Given the description of an element on the screen output the (x, y) to click on. 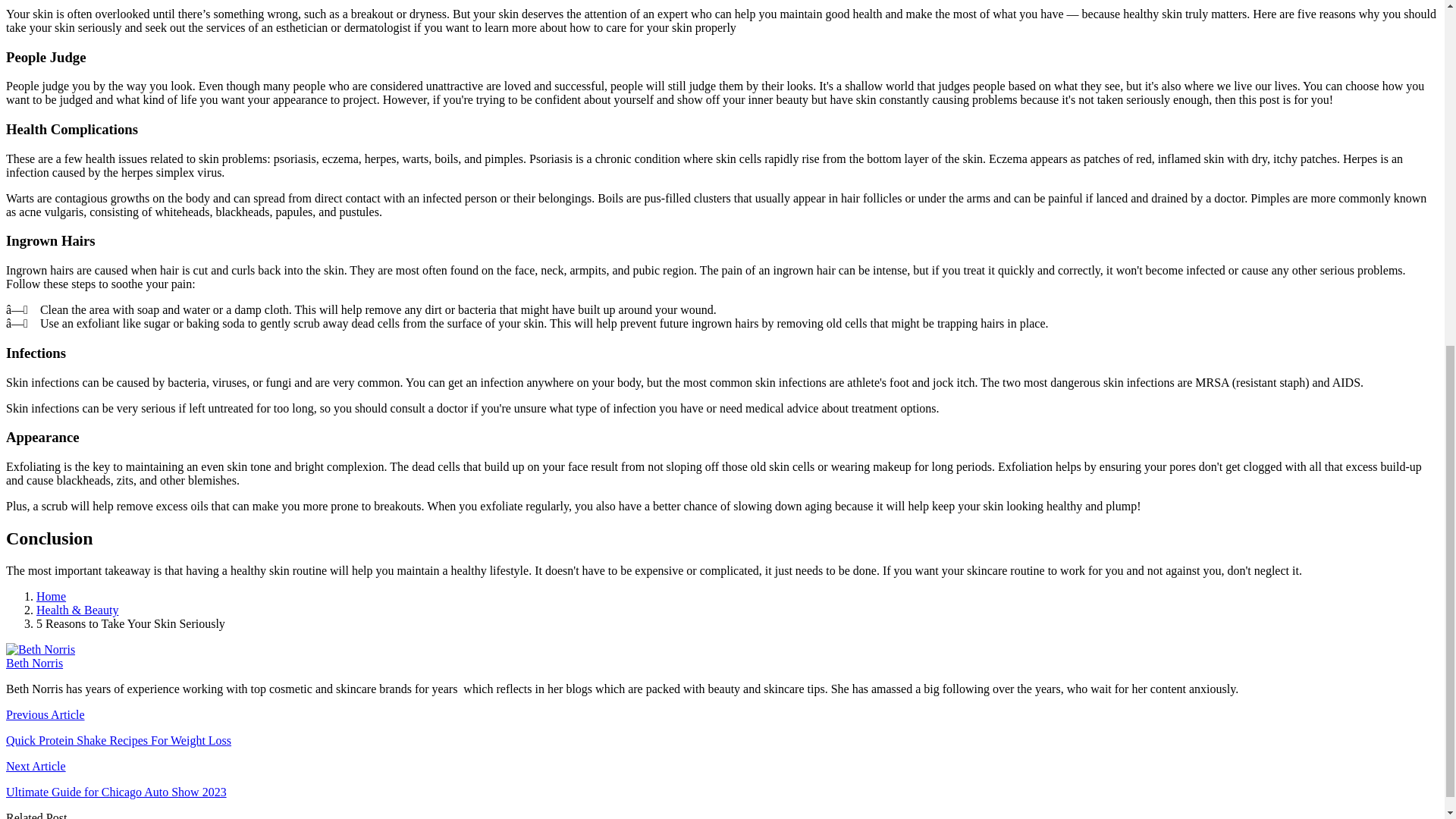
Ultimate Guide for Chicago Auto Show 2023 (116, 791)
Next Article (35, 766)
Home (50, 595)
Quick Protein Shake Recipes For Weight Loss (118, 739)
Previous Article (44, 714)
Beth Norris (33, 662)
